Given the description of an element on the screen output the (x, y) to click on. 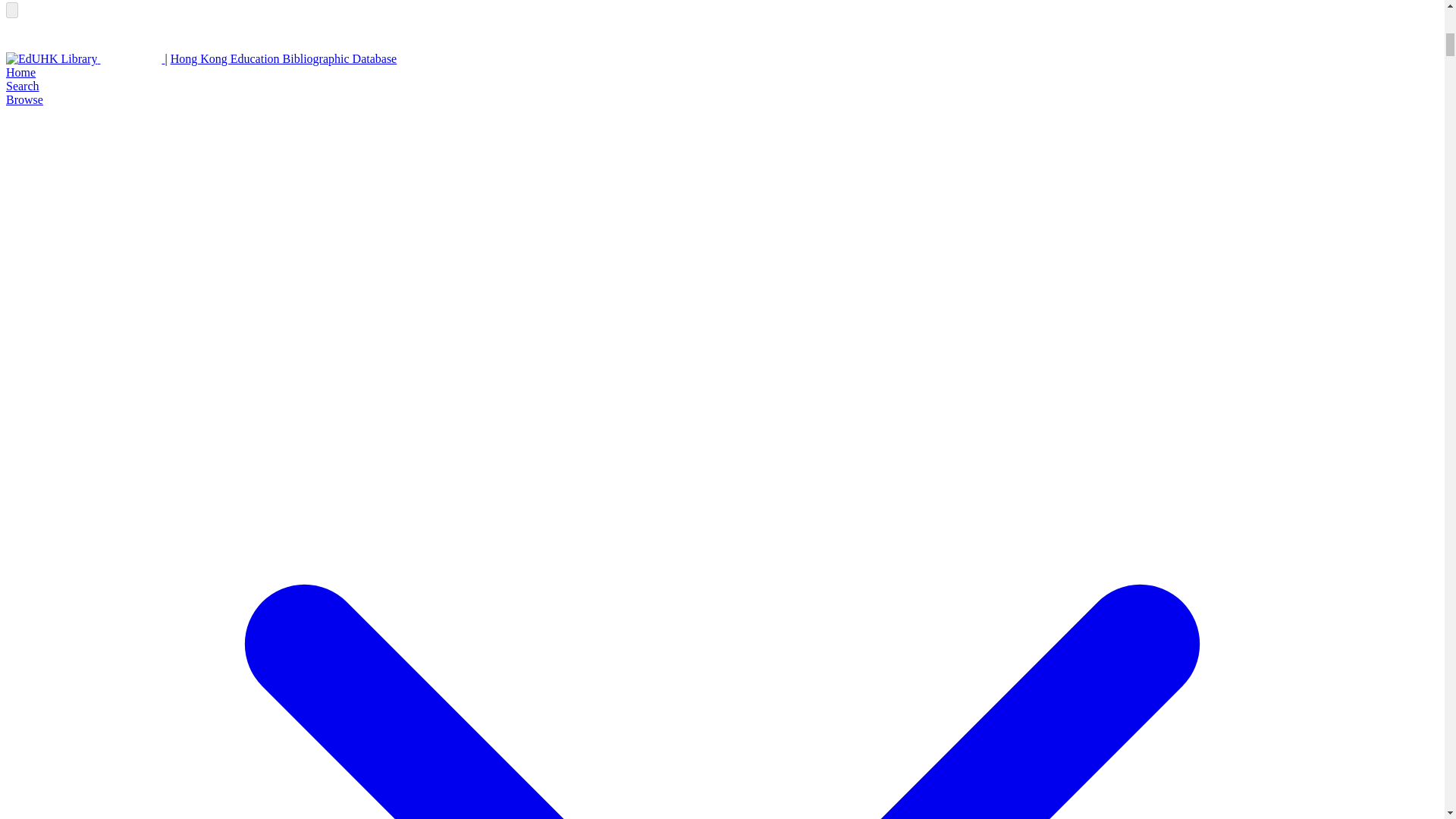
Search (22, 85)
Home (19, 72)
Hong Kong Education Bibliographic Database (283, 58)
